Given the description of an element on the screen output the (x, y) to click on. 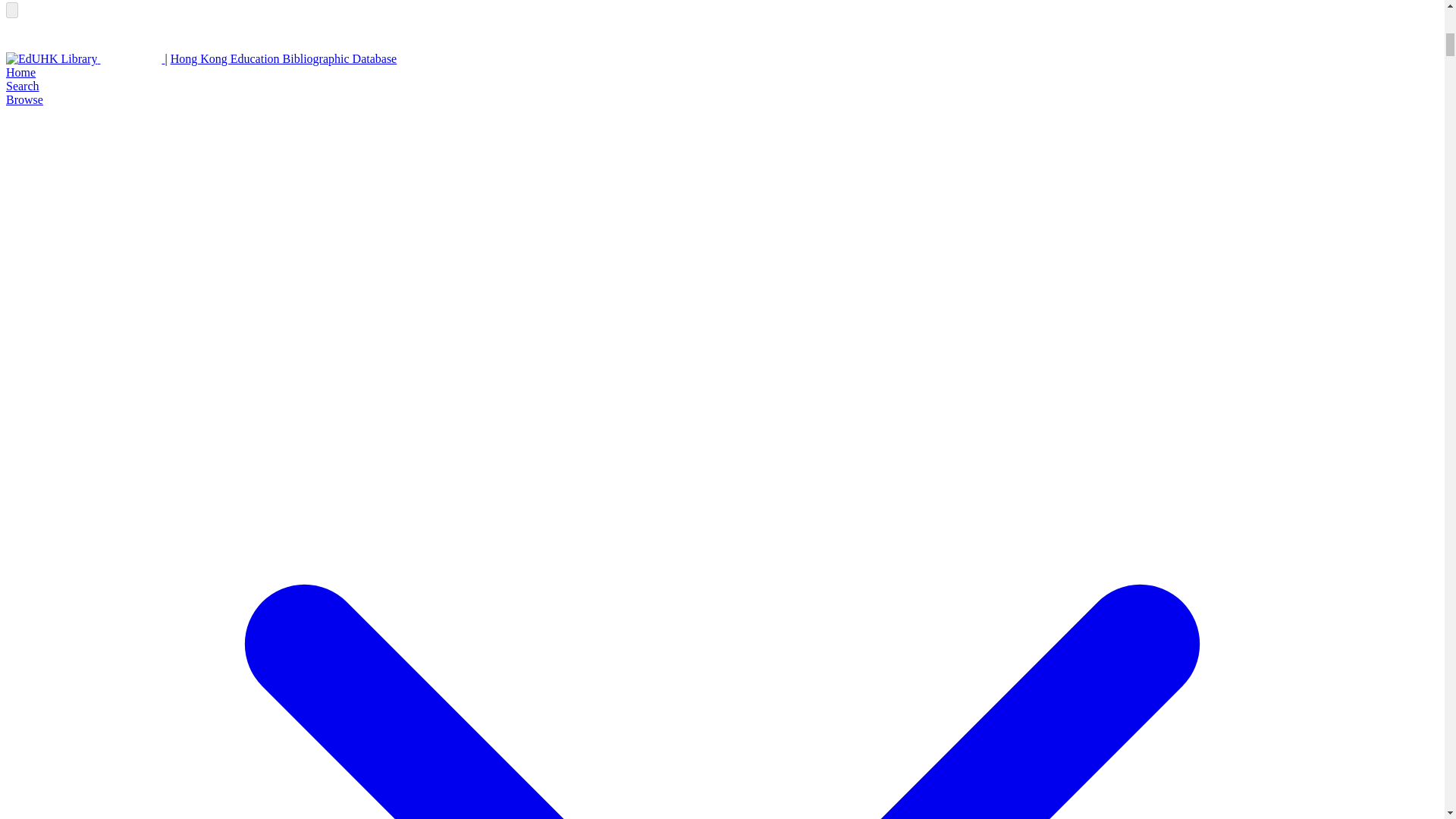
Search (22, 85)
Home (19, 72)
Hong Kong Education Bibliographic Database (283, 58)
